Given the description of an element on the screen output the (x, y) to click on. 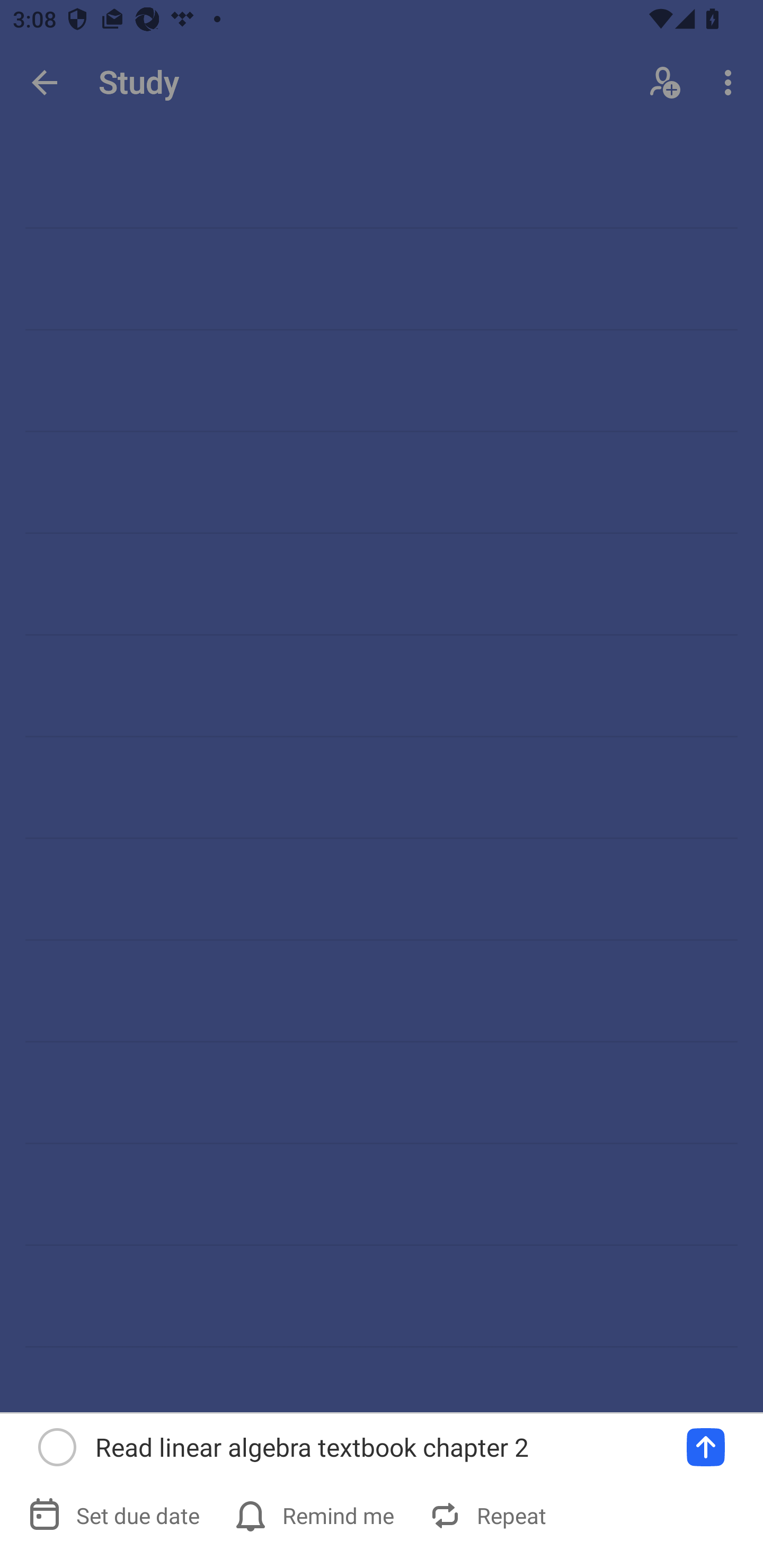
Set due date (115, 1515)
